Given the description of an element on the screen output the (x, y) to click on. 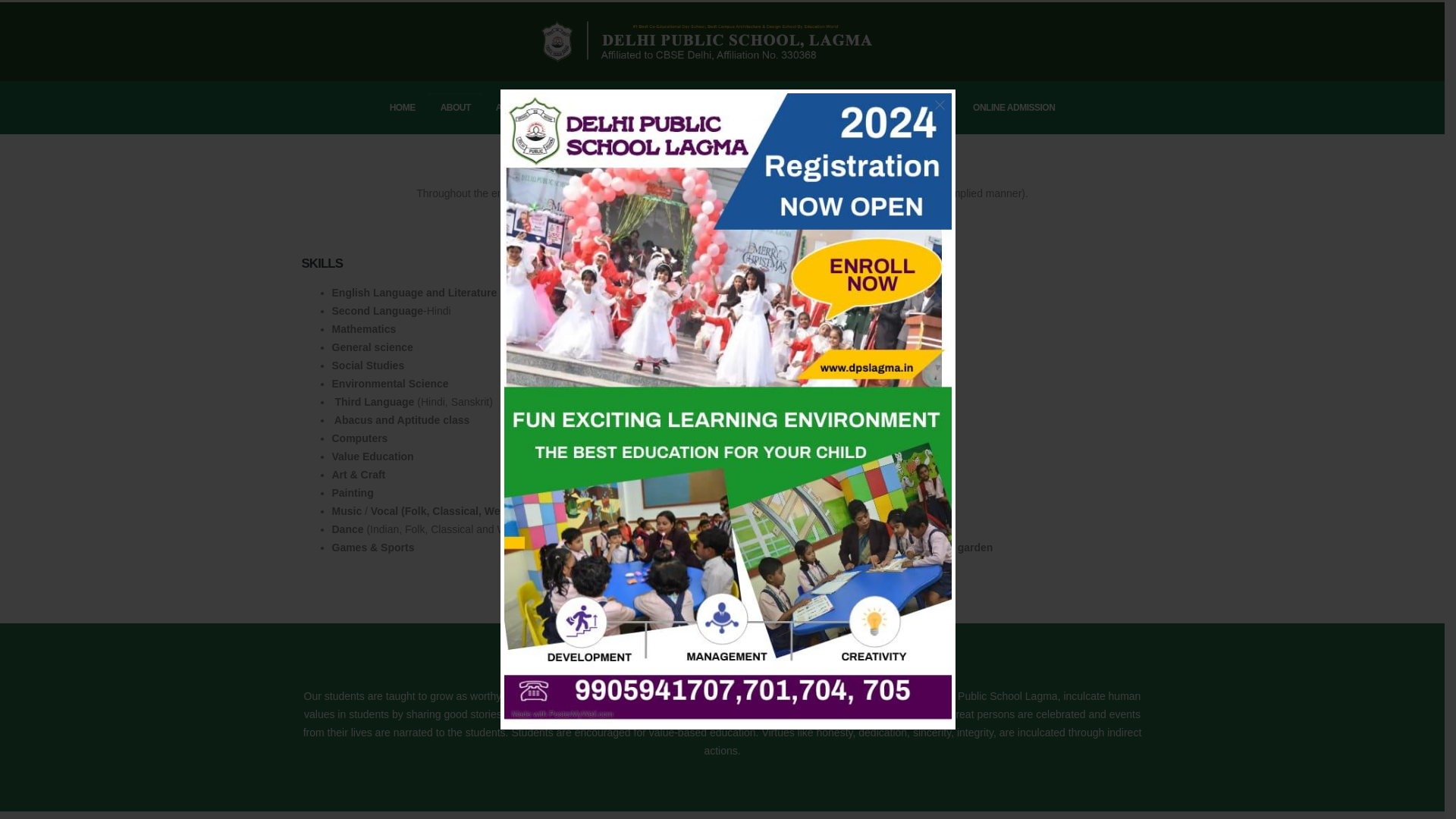
ABOUT (455, 107)
CONTACT US (919, 107)
CBSE SECTION (835, 107)
ADMISSION (519, 107)
GALLERY (758, 107)
ACHIEVEMENTS (679, 107)
HOME (402, 107)
ACADEMICS (593, 107)
